Given the description of an element on the screen output the (x, y) to click on. 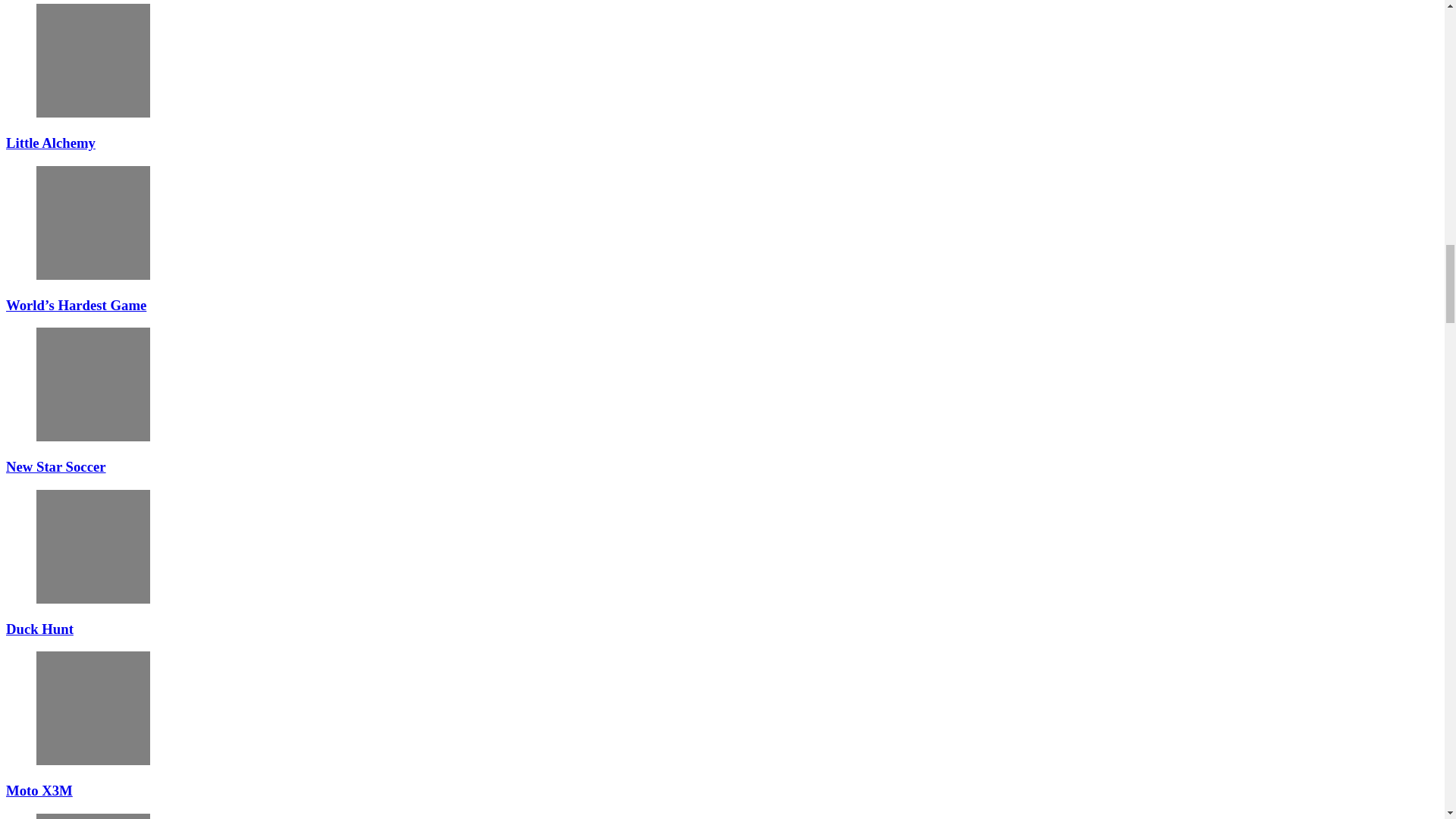
Moto X3M (92, 707)
Little Alchemy (50, 142)
Duck Hunt (92, 546)
Tunnel Rush (92, 816)
New Star Soccer (92, 384)
Little Alchemy (92, 60)
